Given the description of an element on the screen output the (x, y) to click on. 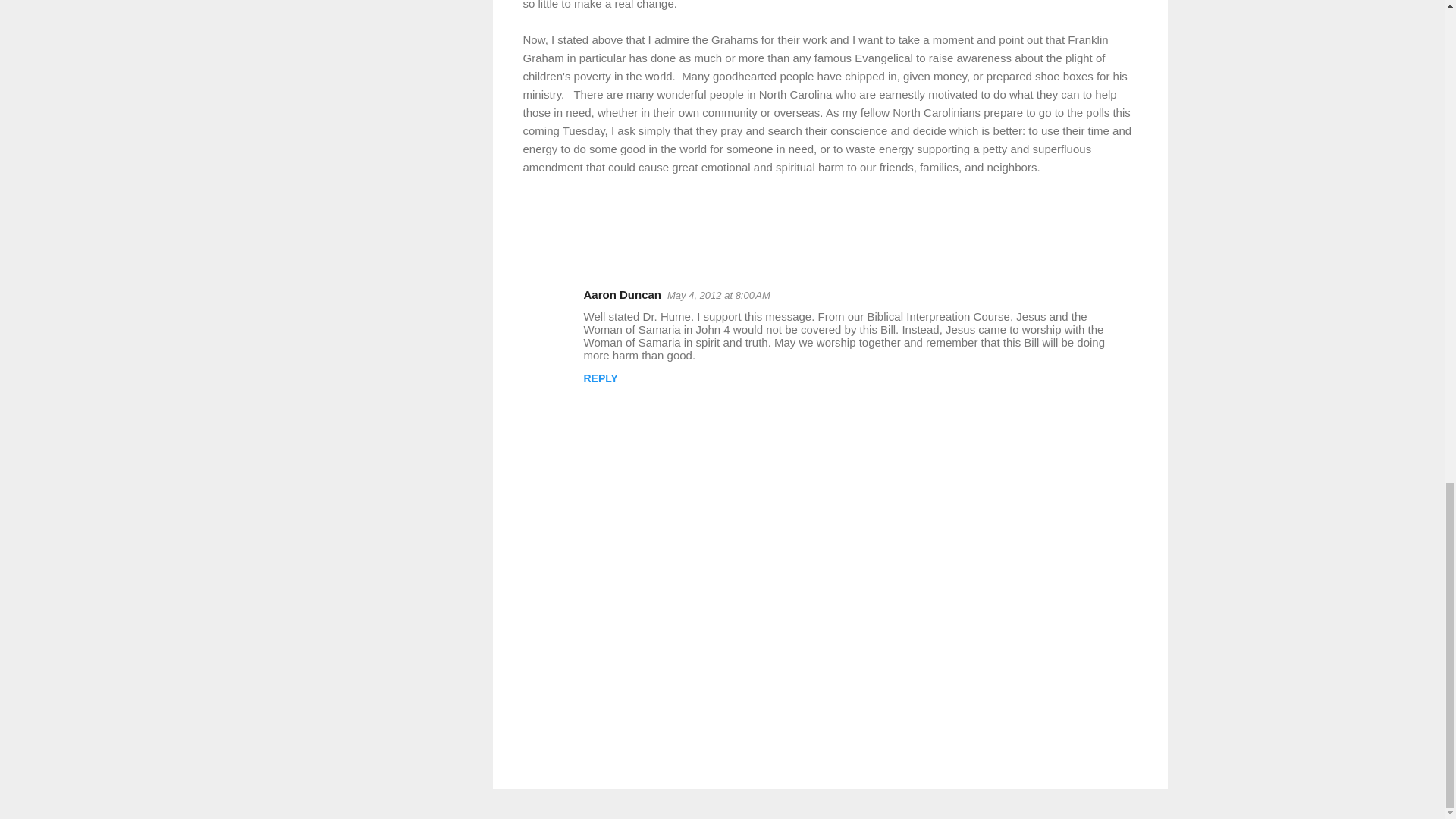
Aaron Duncan (622, 294)
REPLY (600, 378)
Email Post (562, 236)
